Given the description of an element on the screen output the (x, y) to click on. 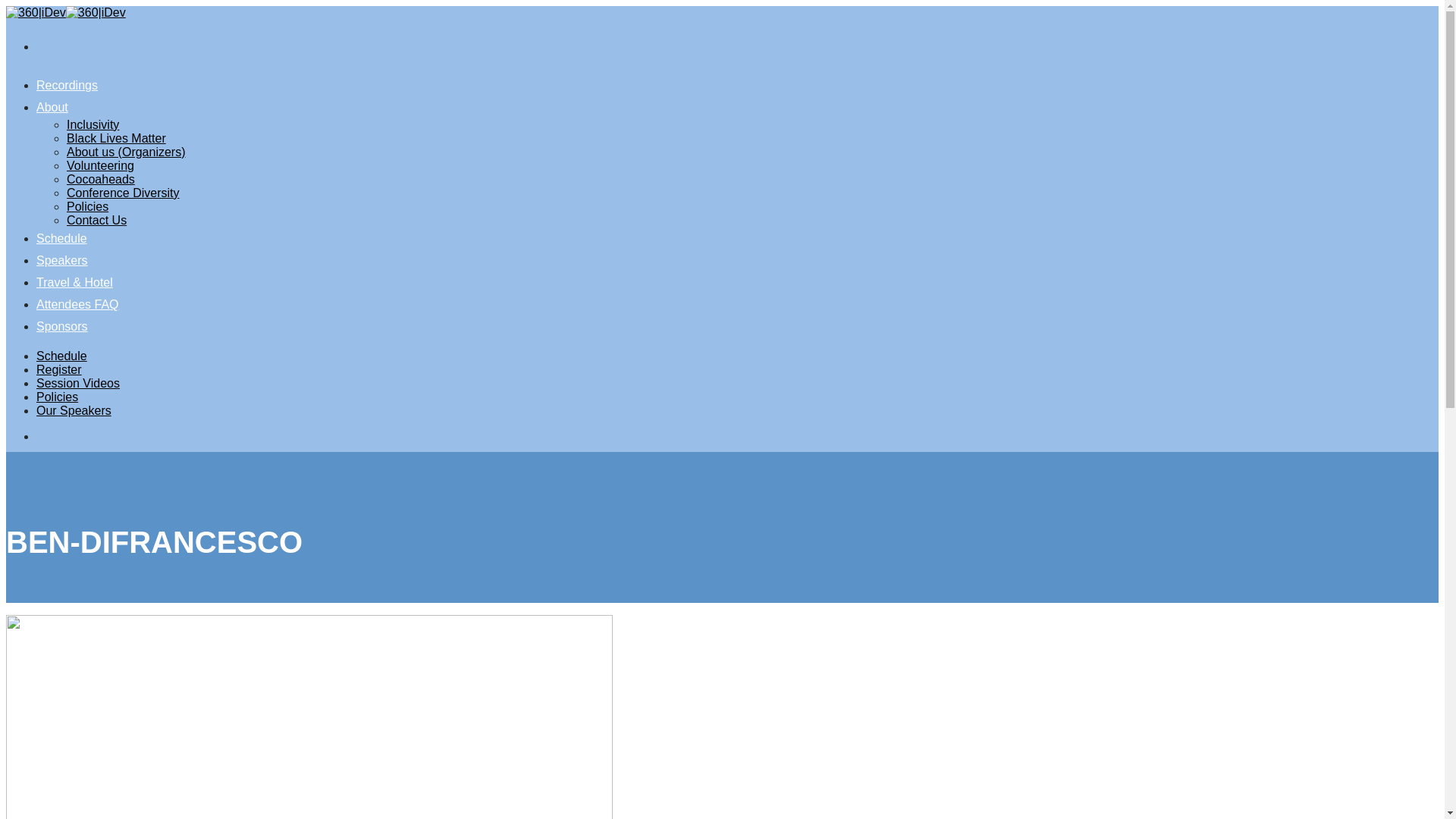
Cocoaheads Element type: text (100, 178)
Volunteering Element type: text (100, 165)
Black Lives Matter Element type: text (116, 137)
Attendees FAQ Element type: text (77, 304)
Policies Element type: text (57, 396)
Schedule Element type: text (61, 238)
Speakers Element type: text (61, 260)
Session Videos Element type: text (77, 382)
Register Element type: text (58, 369)
Sponsors Element type: text (61, 326)
Policies Element type: text (87, 206)
Contact Us Element type: text (96, 219)
About us (Organizers) Element type: text (125, 151)
About Element type: text (52, 106)
Recordings Element type: text (66, 84)
Conference Diversity Element type: text (122, 192)
Schedule Element type: text (61, 355)
Travel & Hotel Element type: text (74, 282)
Our Speakers Element type: text (73, 410)
Inclusivity Element type: text (92, 124)
